Given the description of an element on the screen output the (x, y) to click on. 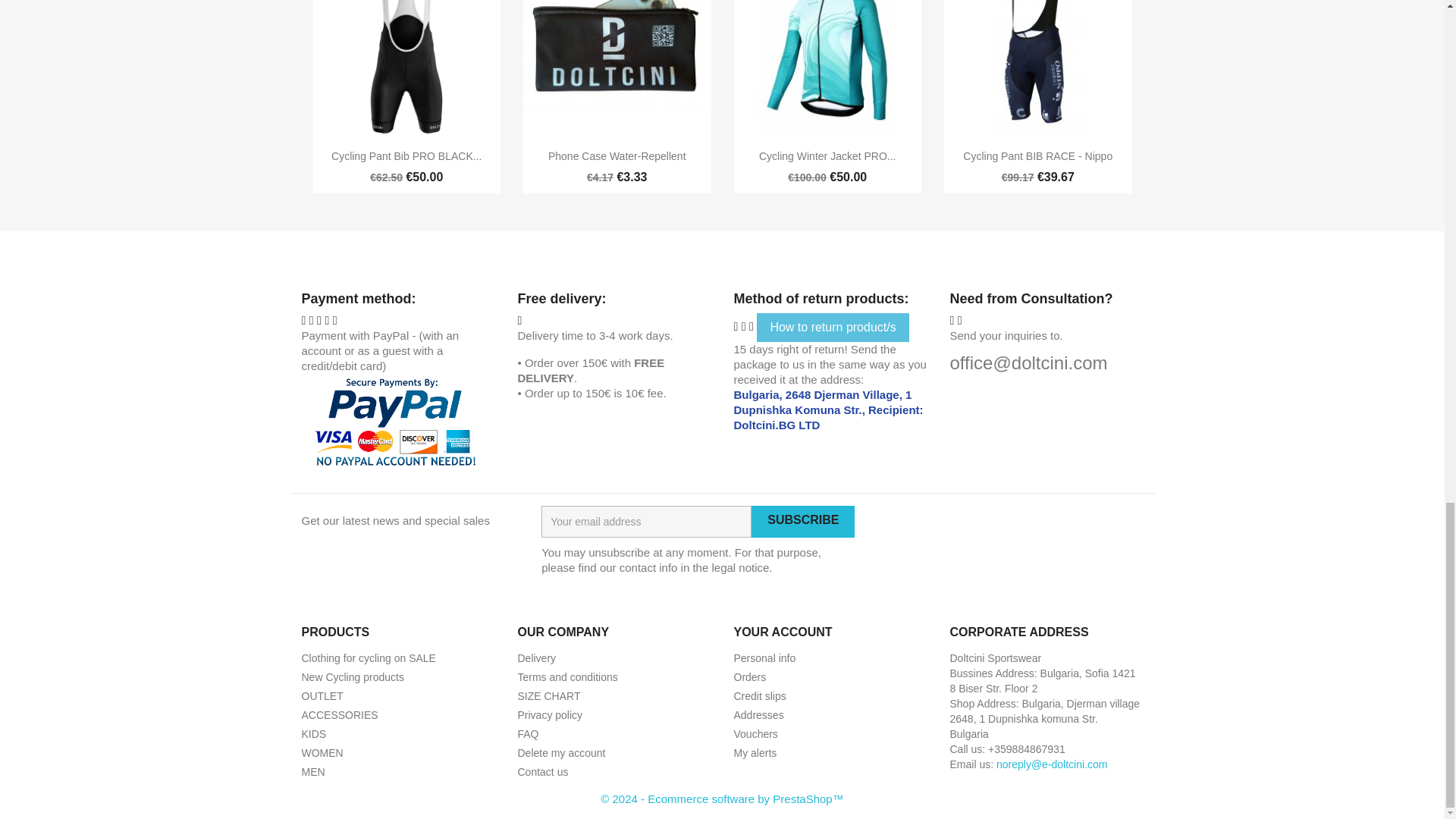
Our new cycling sportswear products (339, 715)
PRO CYCLING OUTLET in SALE by DOLTCINI SPORTSWEAR (352, 676)
CYCLINGSPORTSWEARFOR WOMEN (322, 695)
